Given the description of an element on the screen output the (x, y) to click on. 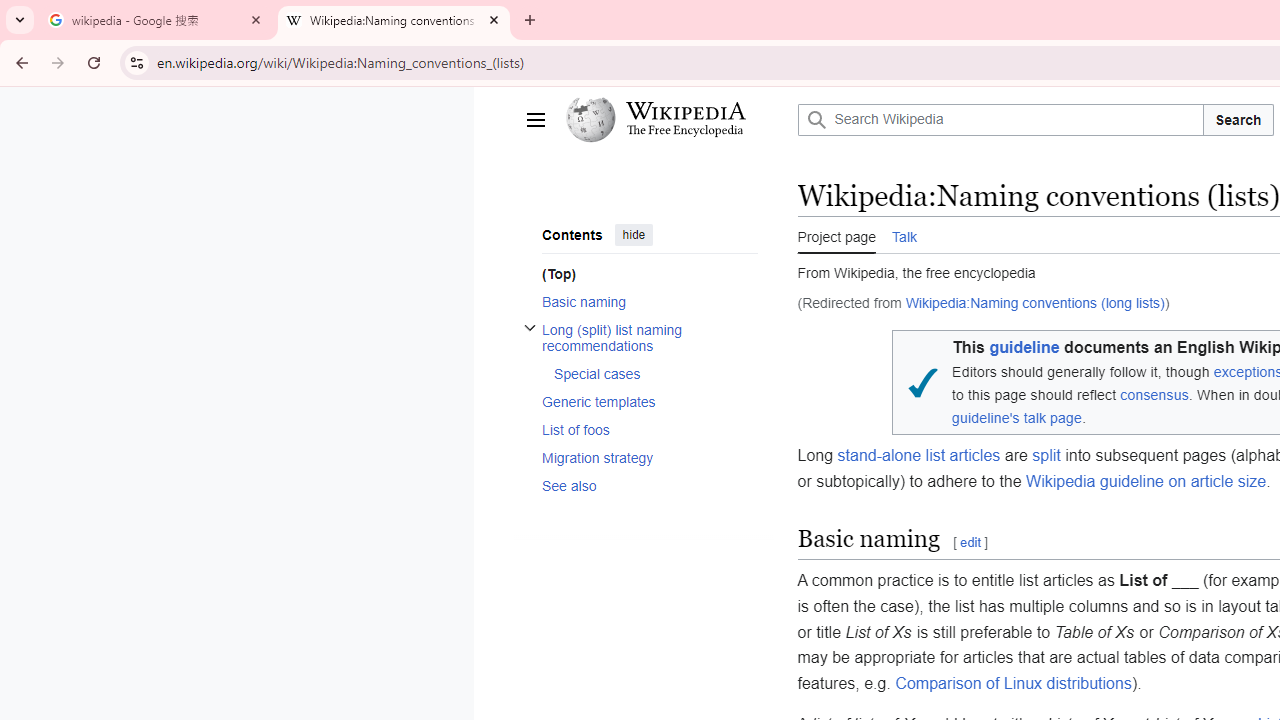
AutomationID: ca-nstab-project (836, 234)
Basic naming (649, 301)
Long (split) list naming recommendations (649, 337)
Wikipedia The Free Encyclopedia (676, 119)
Wikipedia:Naming conventions (lists) - Wikipedia (394, 20)
Toggle Long (split) list naming recommendations subsection (529, 327)
stand-alone list articles (918, 456)
AutomationID: ca-talk (904, 234)
Wikipedia (685, 111)
AutomationID: toc-Generic_templates (642, 401)
AutomationID: toc-Migration_strategy (642, 457)
Blue tick (922, 382)
Comparison of Linux distributions (1012, 682)
Migration strategy (649, 457)
